Given the description of an element on the screen output the (x, y) to click on. 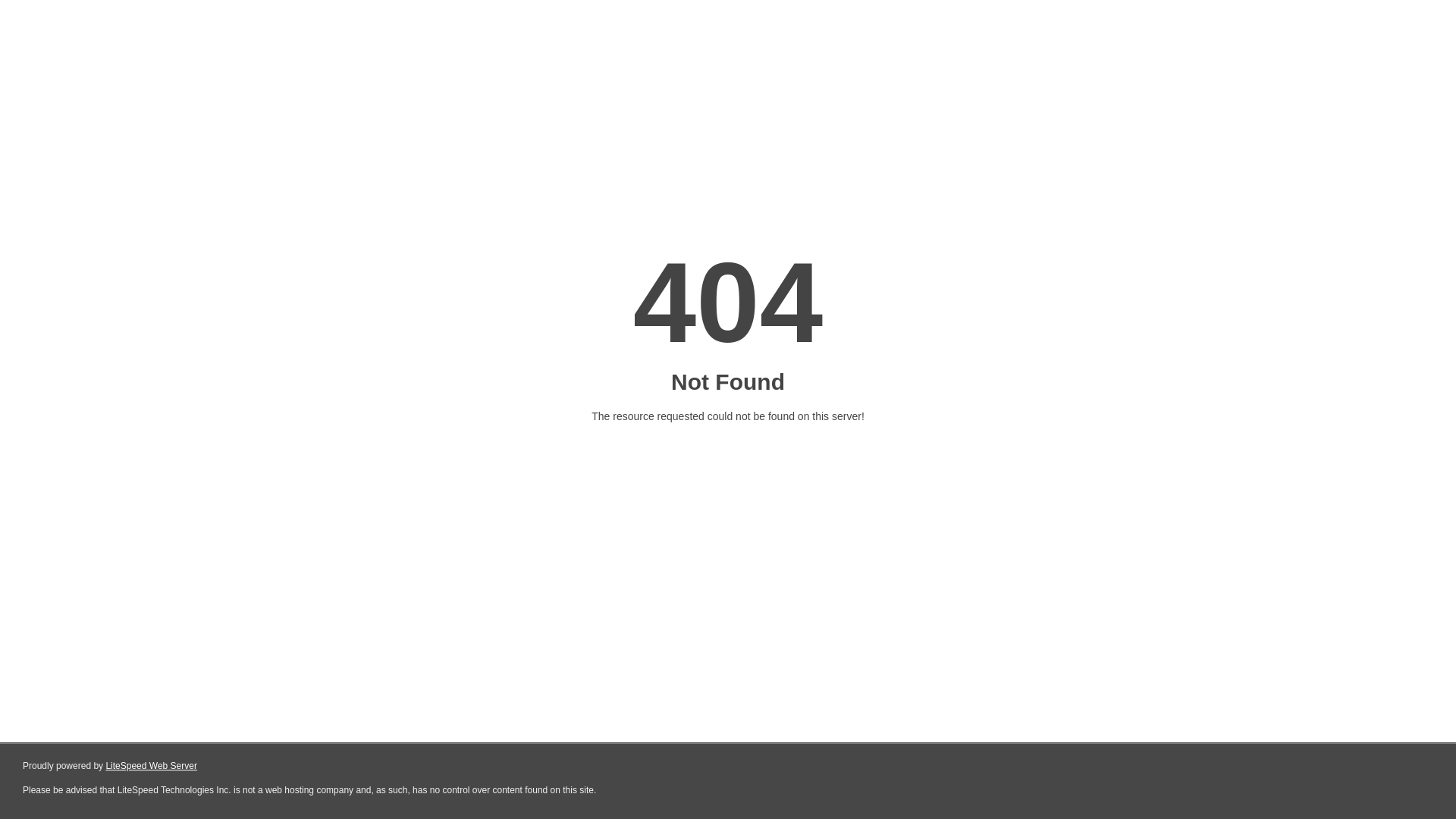
LiteSpeed Web Server Element type: text (151, 765)
